Given the description of an element on the screen output the (x, y) to click on. 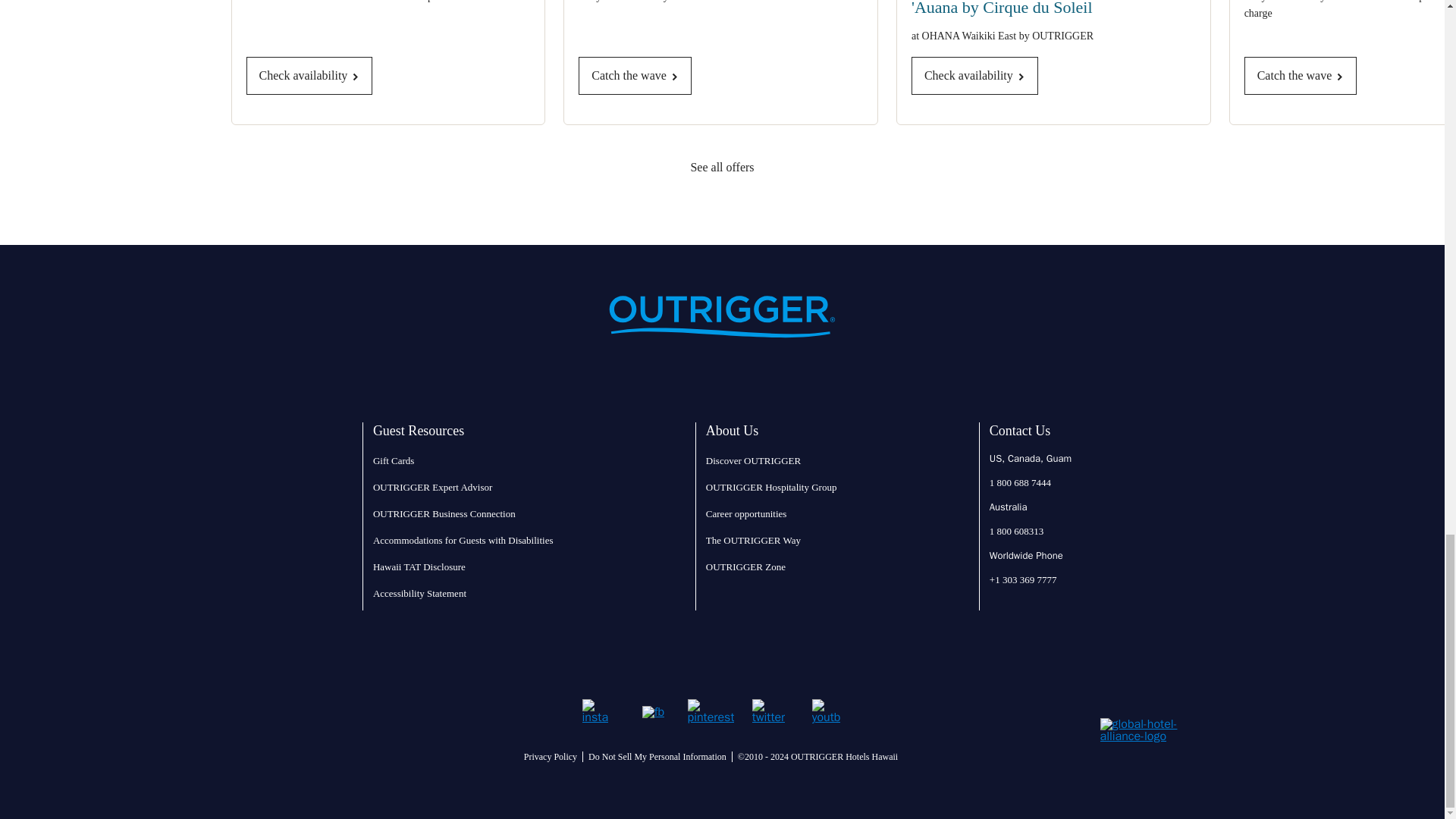
Catch the wave (634, 75)
Check availability (309, 75)
Catch the wave (1300, 75)
Check availability (974, 75)
